Given the description of an element on the screen output the (x, y) to click on. 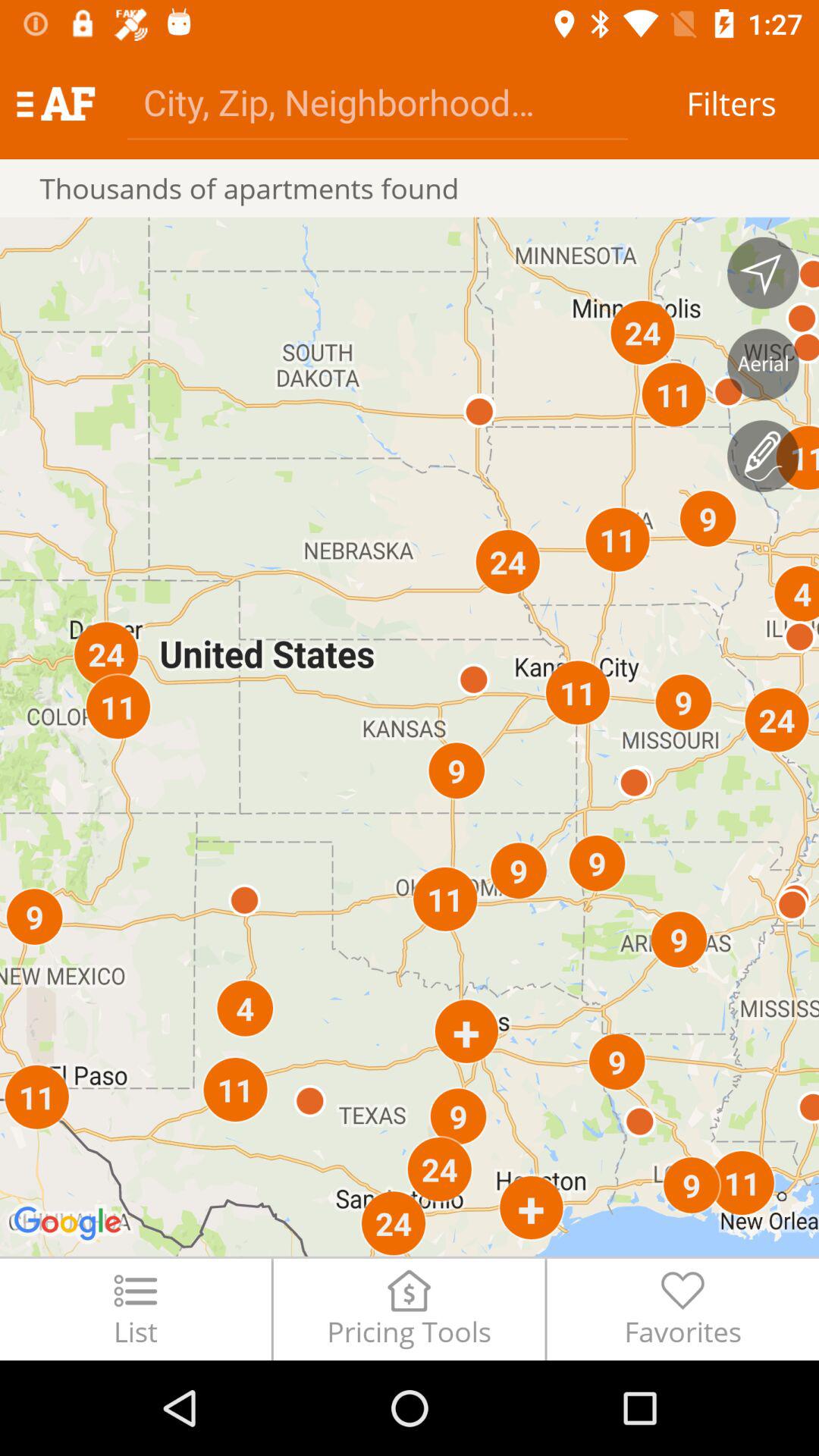
open search box (377, 102)
